Given the description of an element on the screen output the (x, y) to click on. 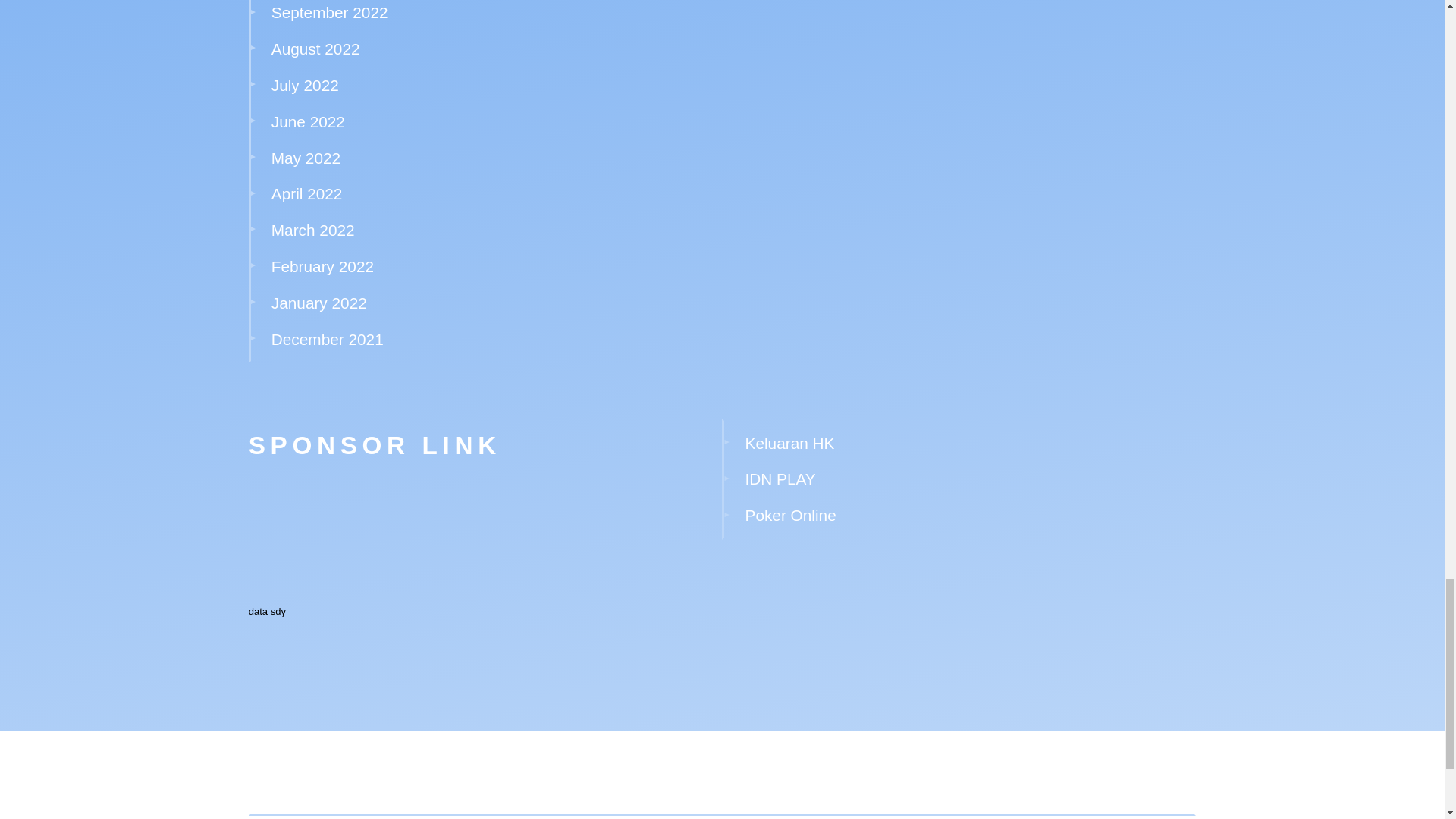
February 2022 (322, 266)
August 2022 (314, 48)
April 2022 (306, 193)
June 2022 (307, 121)
July 2022 (304, 85)
September 2022 (329, 12)
March 2022 (312, 230)
May 2022 (305, 158)
